Given the description of an element on the screen output the (x, y) to click on. 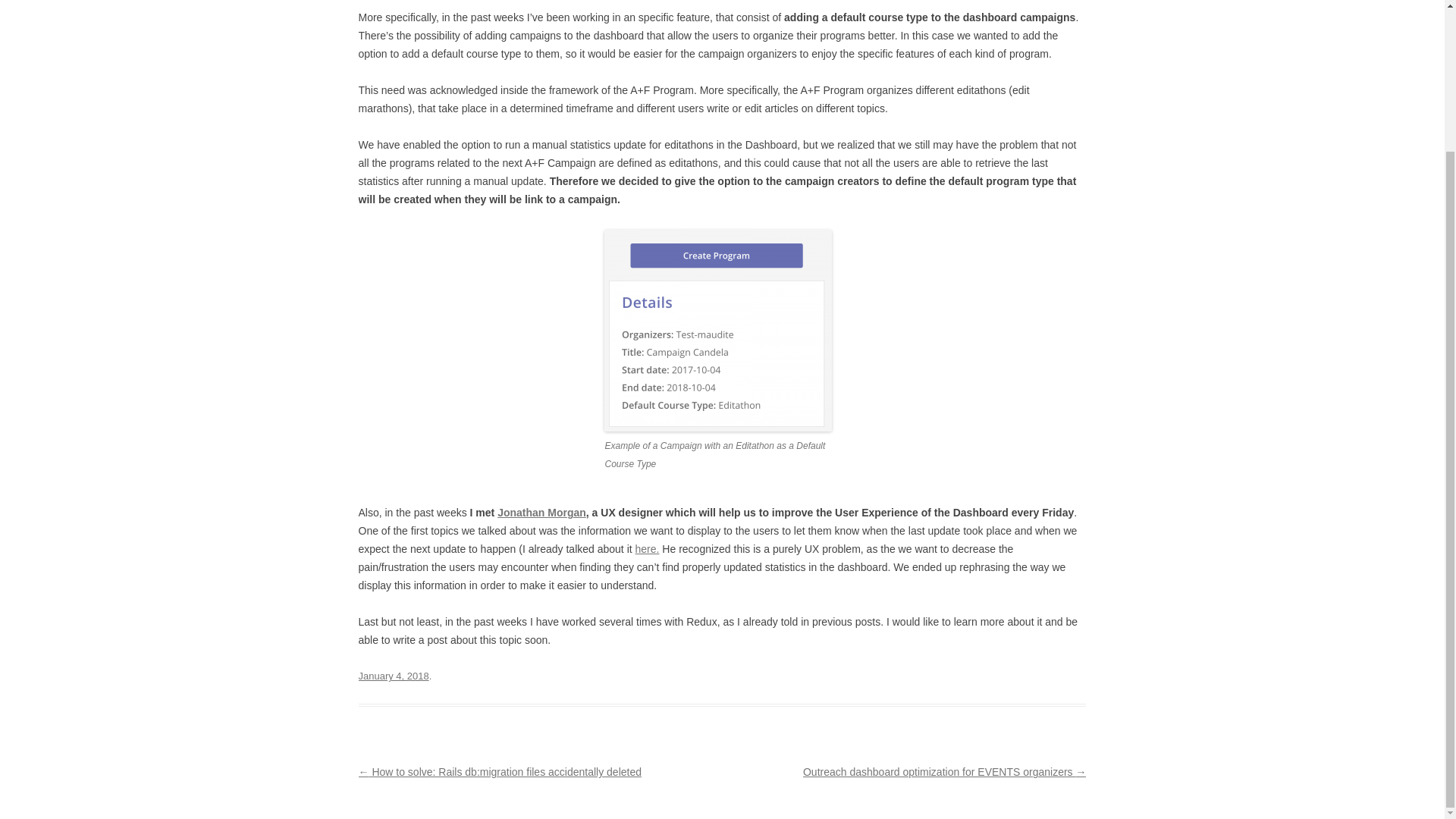
here. (646, 548)
Jonathan Morgan (541, 512)
5:35 pm (393, 675)
January 4, 2018 (393, 675)
